Given the description of an element on the screen output the (x, y) to click on. 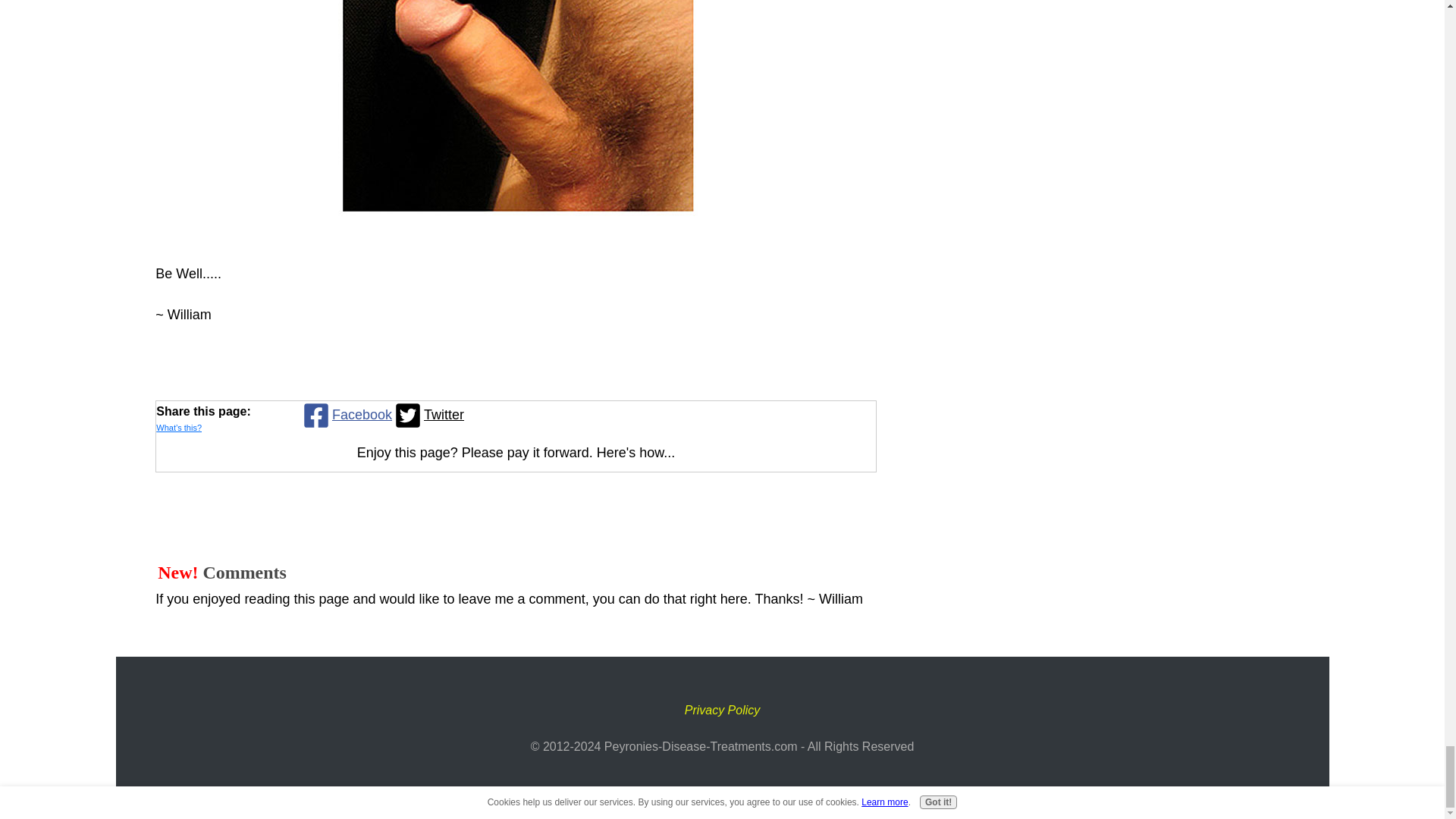
Twitter (427, 415)
Facebook (345, 415)
